Given the description of an element on the screen output the (x, y) to click on. 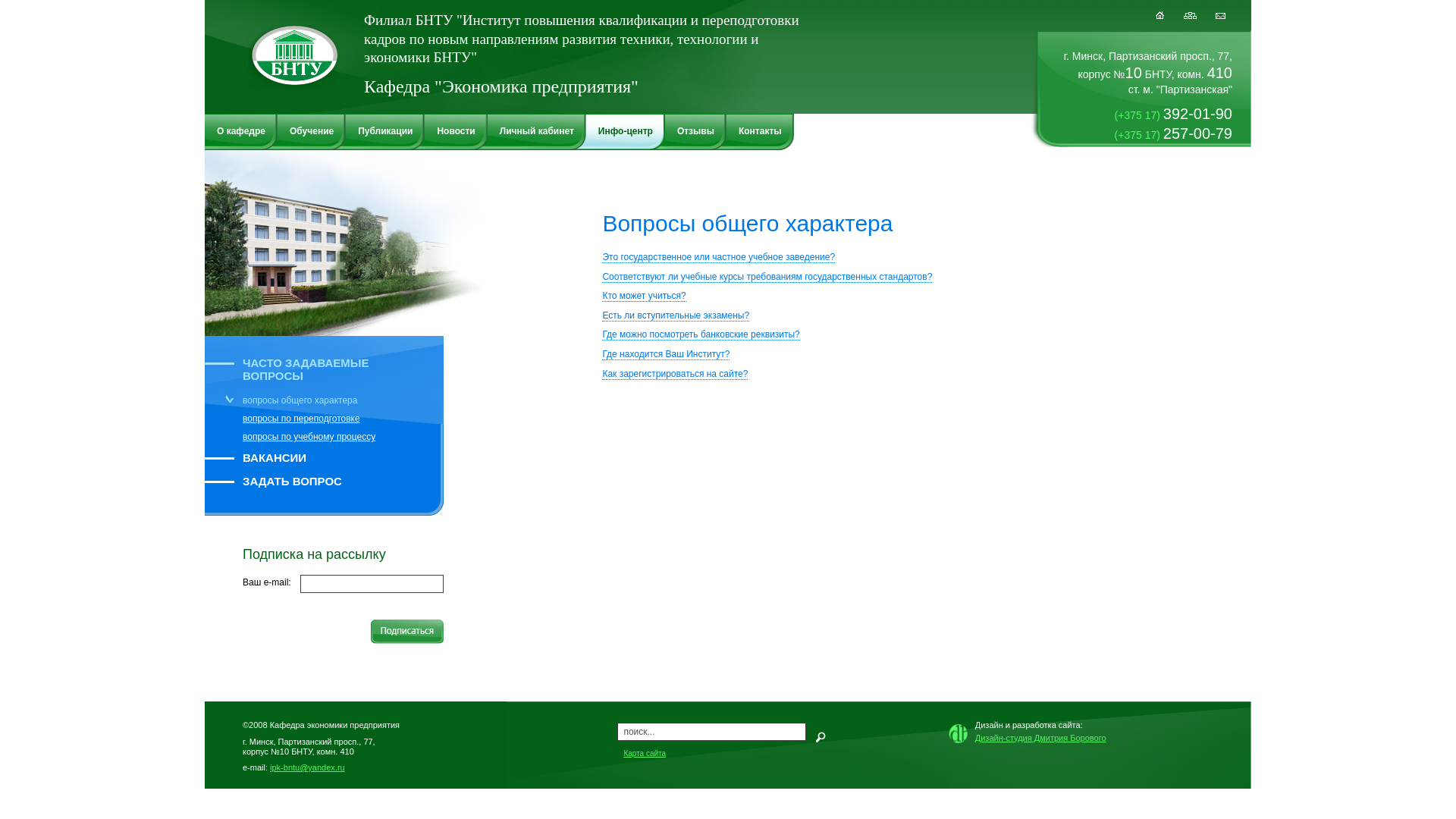
LiveInternet Element type: hover (933, 756)
ipk-bntu@yandex.ru Element type: text (307, 766)
